Given the description of an element on the screen output the (x, y) to click on. 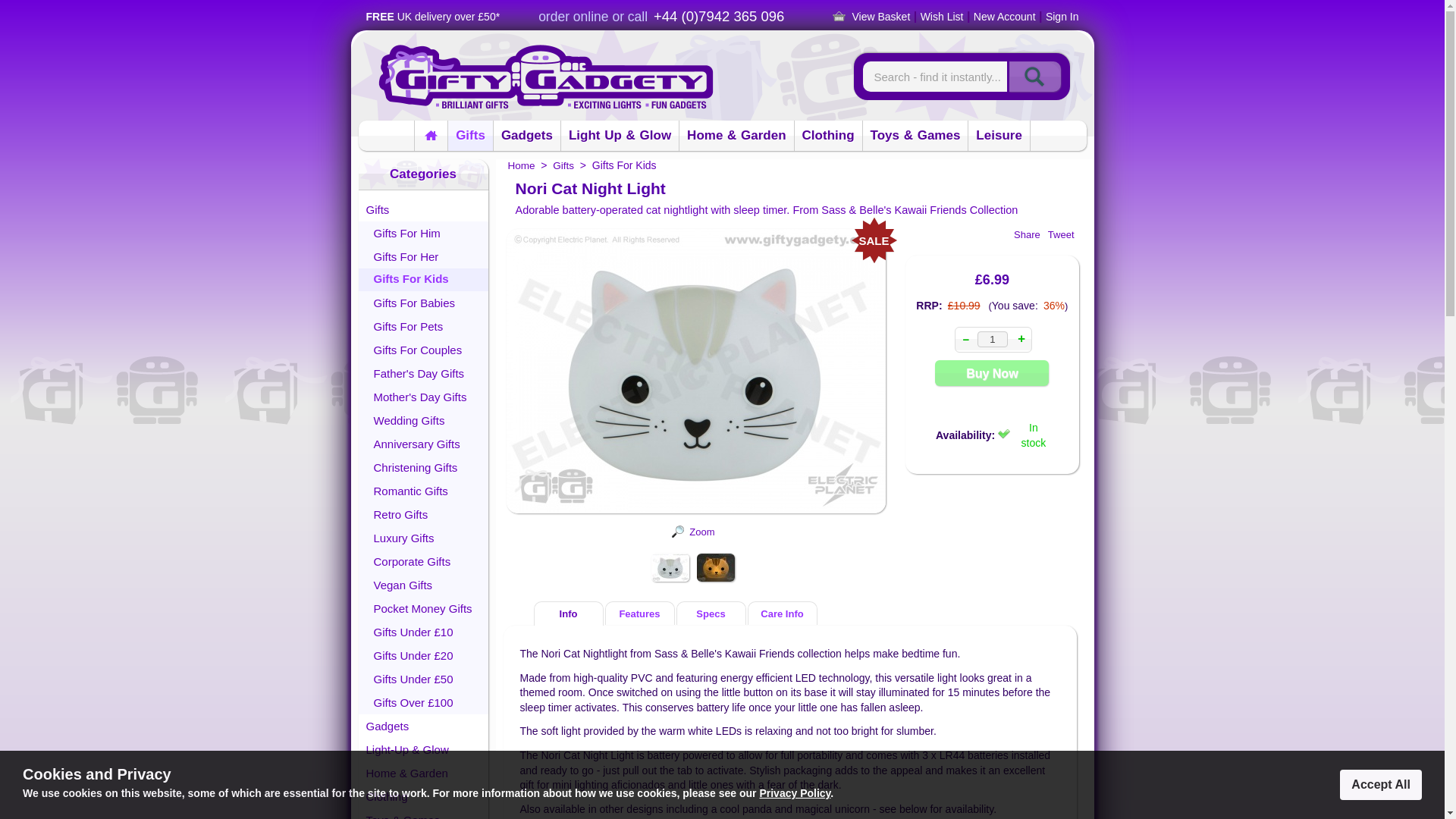
1 (991, 339)
Zoom (701, 531)
Romantic Gifts (422, 490)
Gadgets (422, 725)
Gifts For Him (422, 232)
Christening Gifts (422, 467)
Corporate Gifts (422, 561)
Gifts For Pets (422, 326)
Share (1027, 234)
Anniversary Gifts (422, 443)
